Given the description of an element on the screen output the (x, y) to click on. 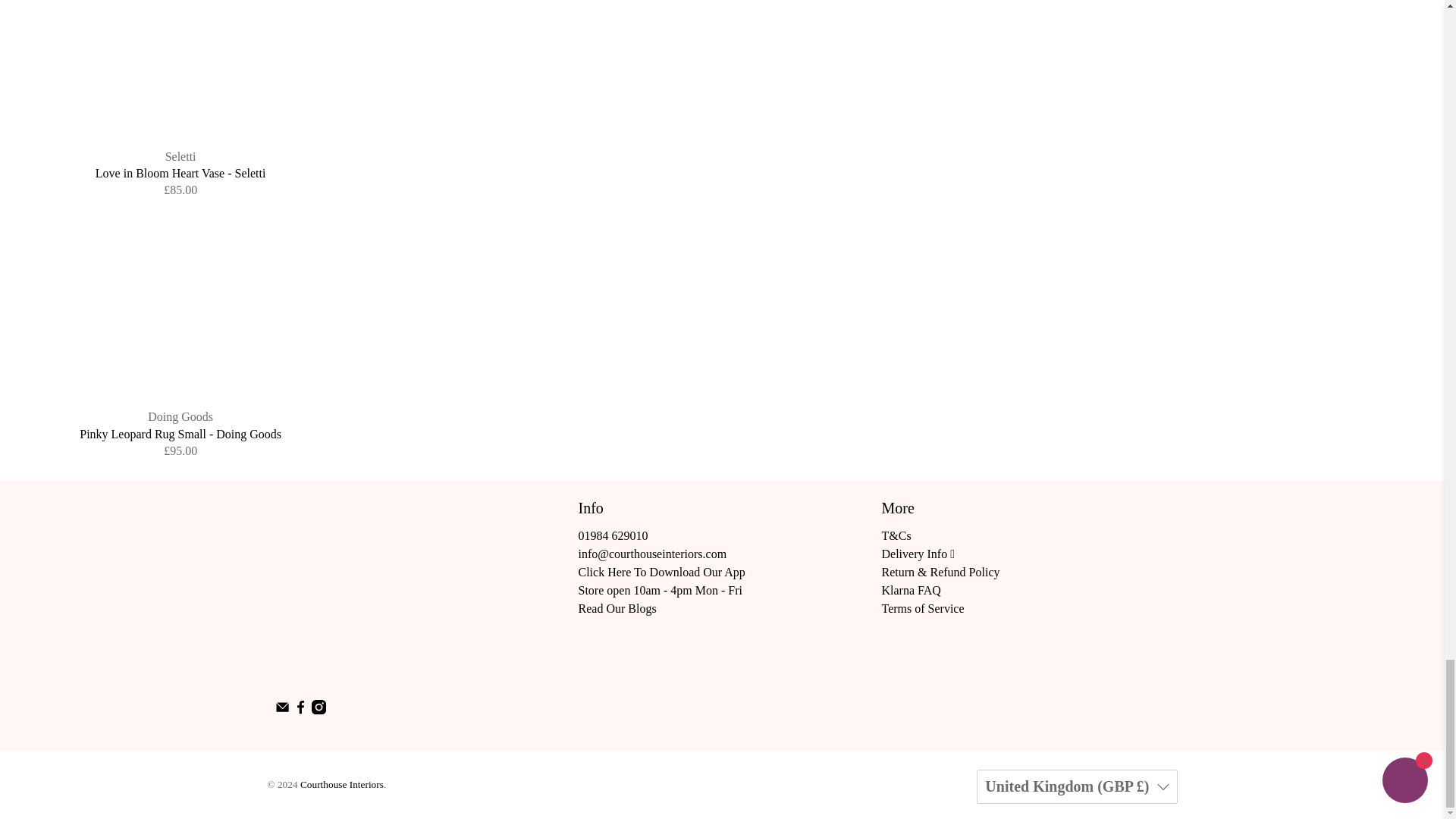
Courthouse Interiors (360, 590)
Courthouse Interiors on Instagram (318, 709)
News (617, 608)
Courthouse Interiors on Facebook (300, 709)
Email Courthouse Interiors (281, 709)
Mobile App (661, 571)
